Given the description of an element on the screen output the (x, y) to click on. 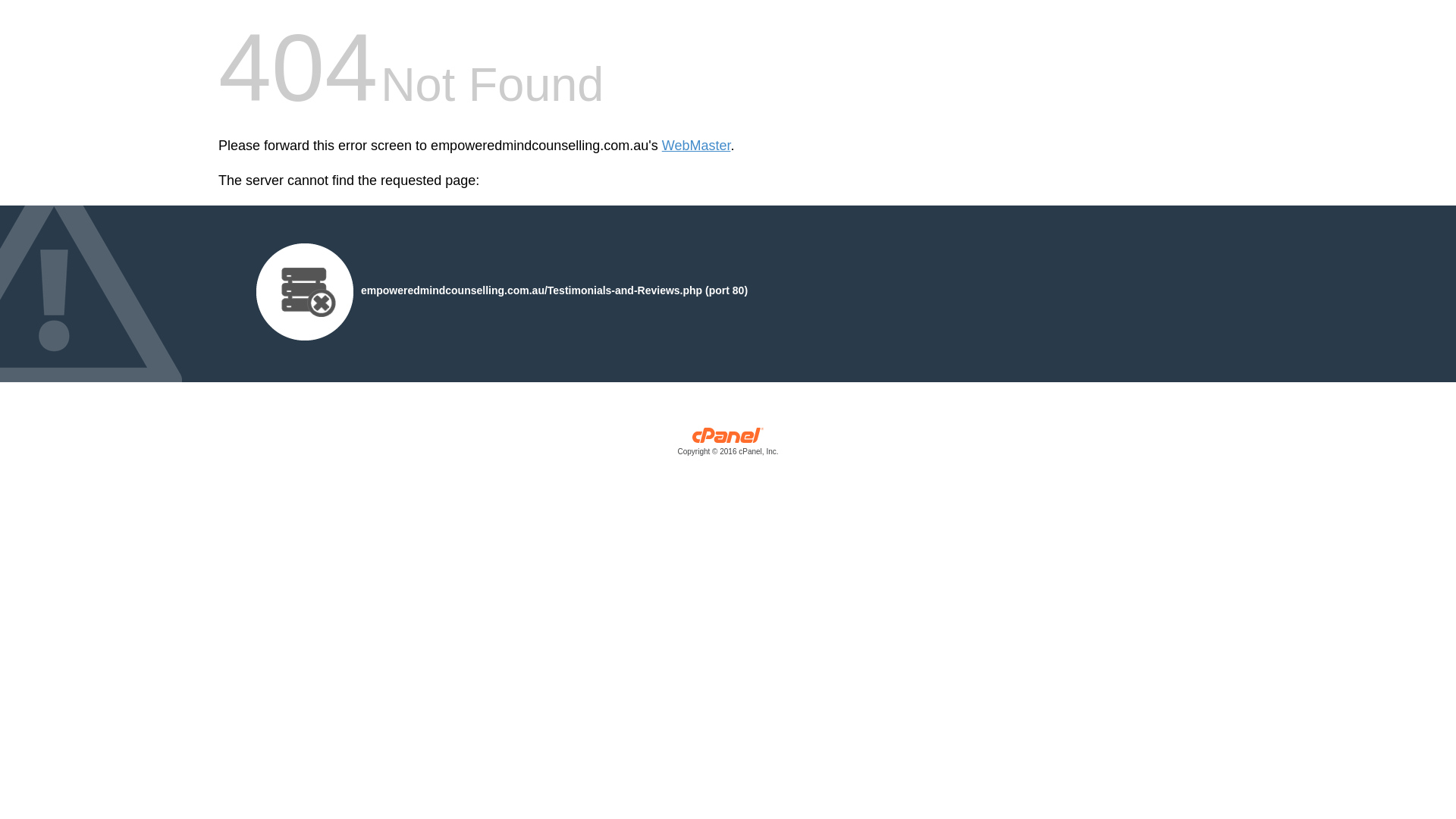
WebMaster Element type: text (696, 145)
